Given the description of an element on the screen output the (x, y) to click on. 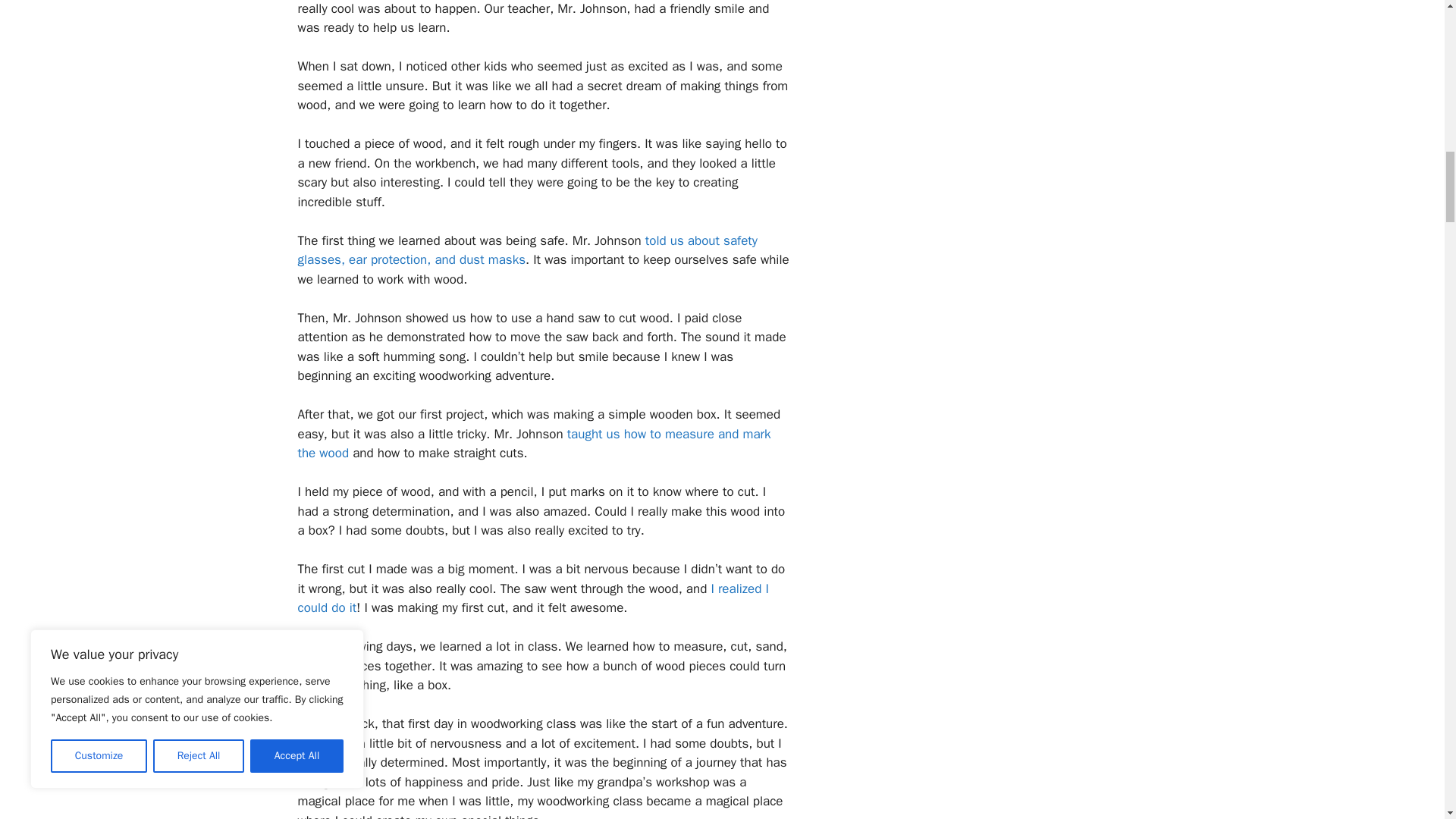
taught us how to measure and mark the wood (533, 443)
I realized I could do it (532, 598)
told us about safety glasses, ear protection, and dust masks (527, 250)
